Given the description of an element on the screen output the (x, y) to click on. 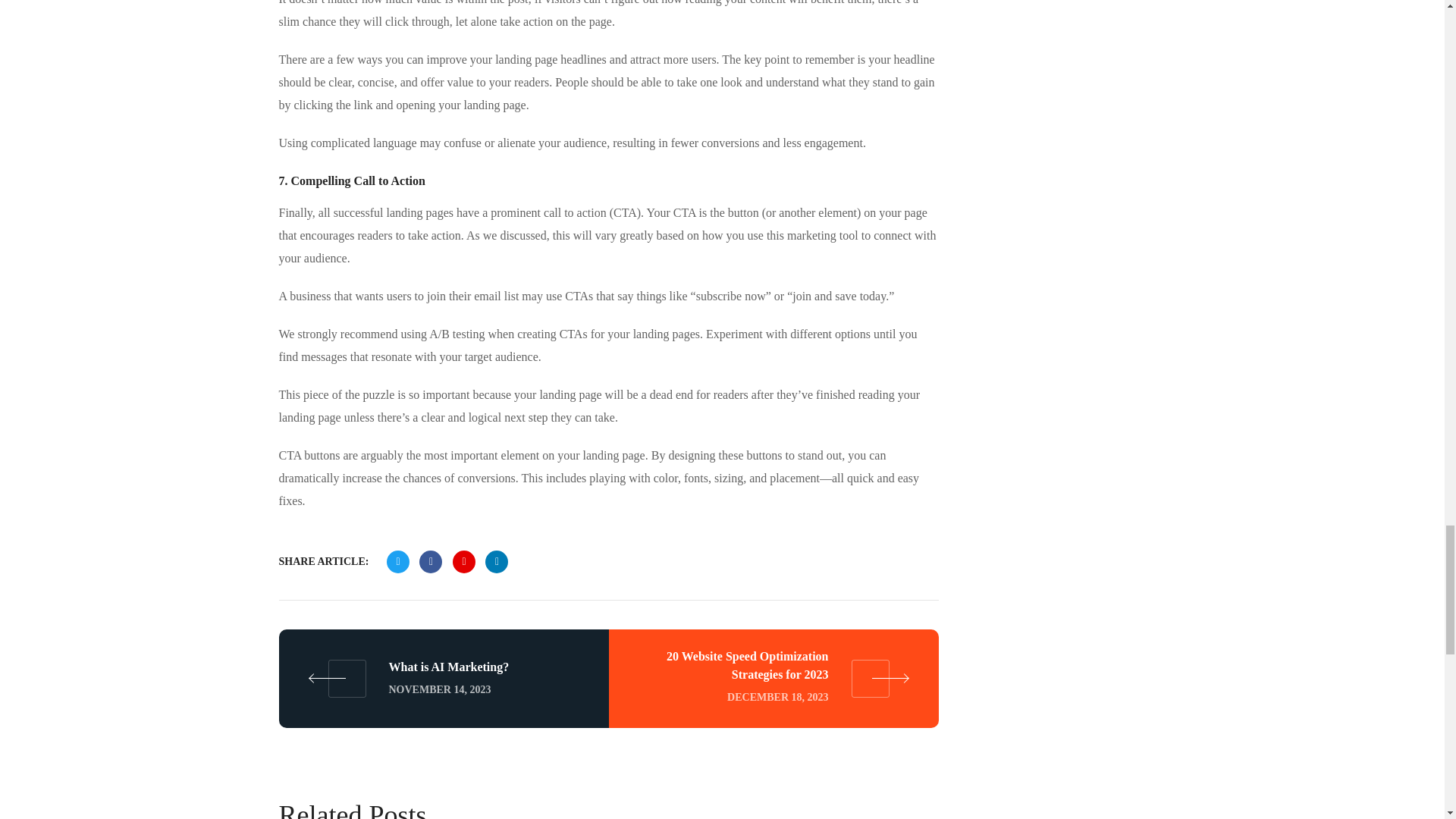
20 Website Speed Optimization Strategies for 2023 (772, 678)
What is AI Marketing? (443, 678)
